Given the description of an element on the screen output the (x, y) to click on. 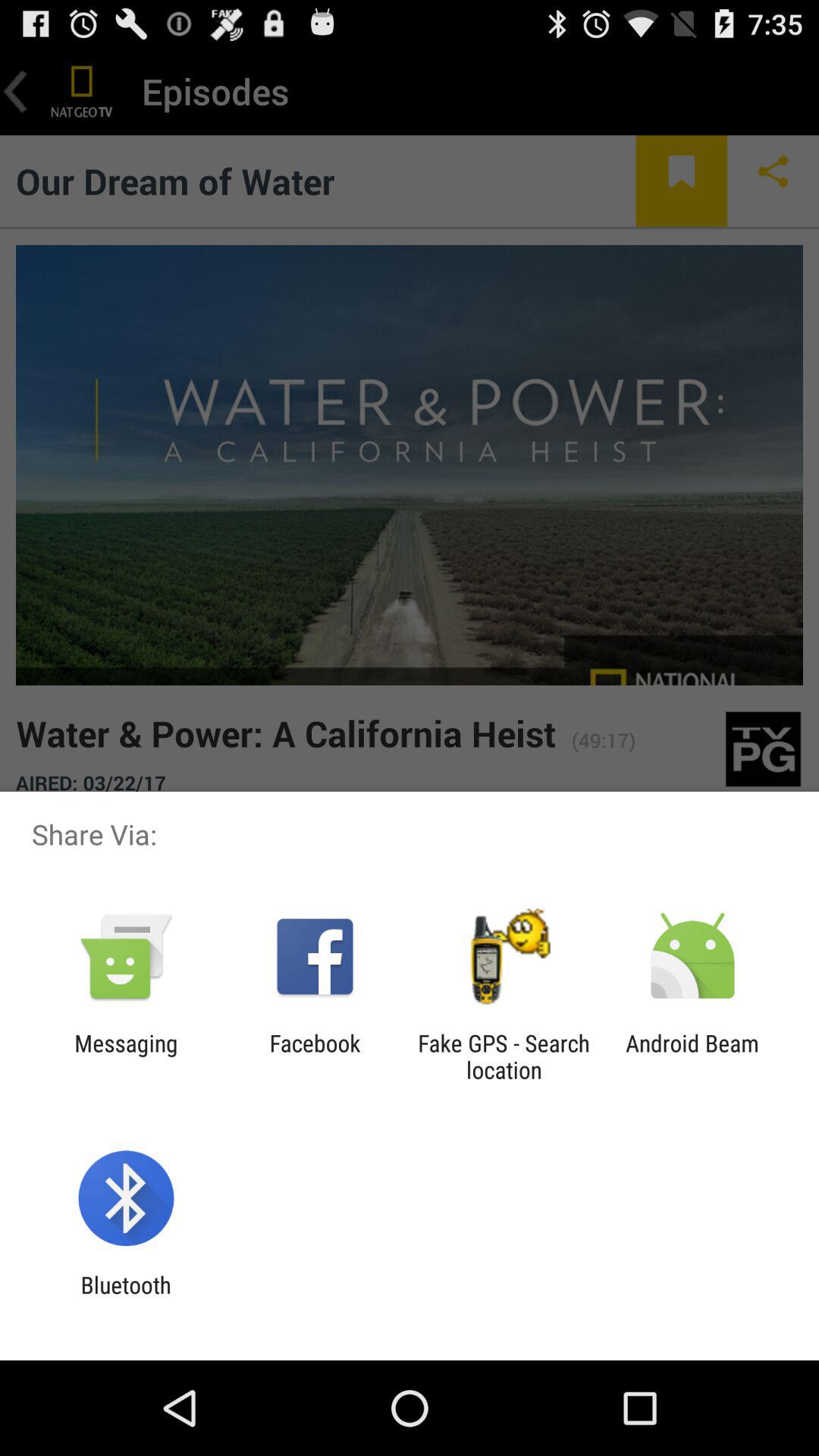
flip until fake gps search (503, 1056)
